Given the description of an element on the screen output the (x, y) to click on. 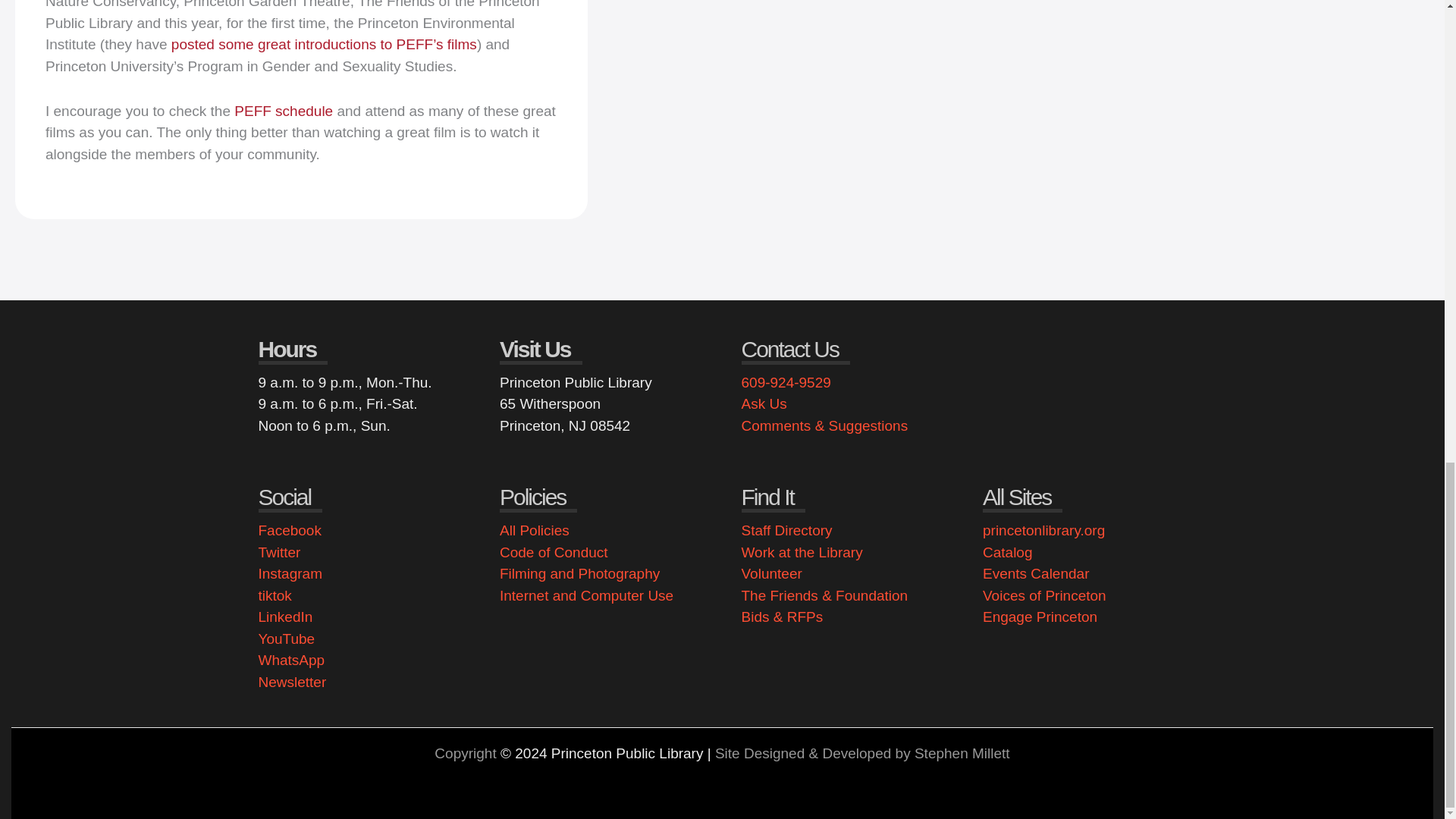
PEFF schedule (283, 110)
